Given the description of an element on the screen output the (x, y) to click on. 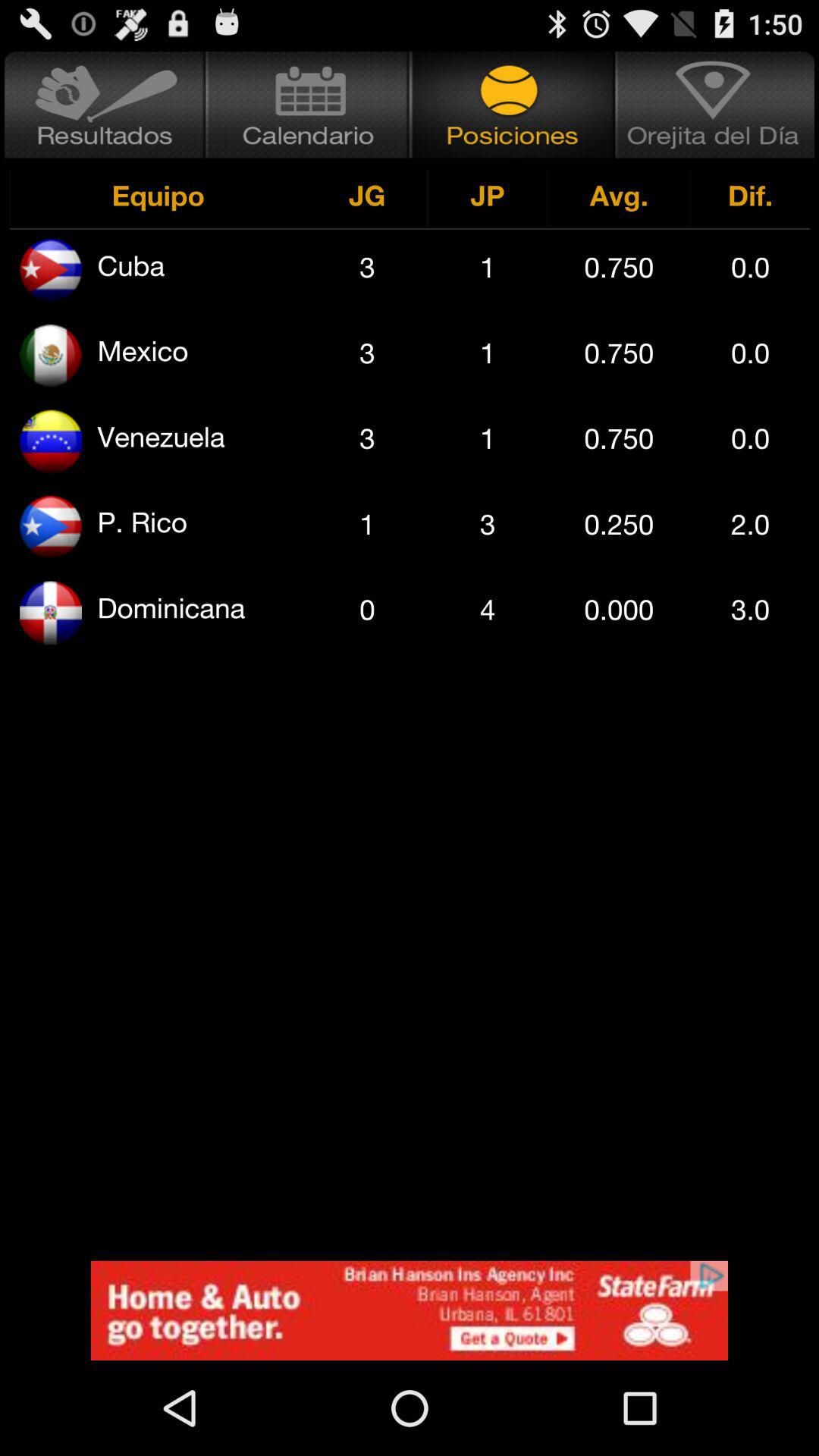
more information about an advertisement (409, 1310)
